Given the description of an element on the screen output the (x, y) to click on. 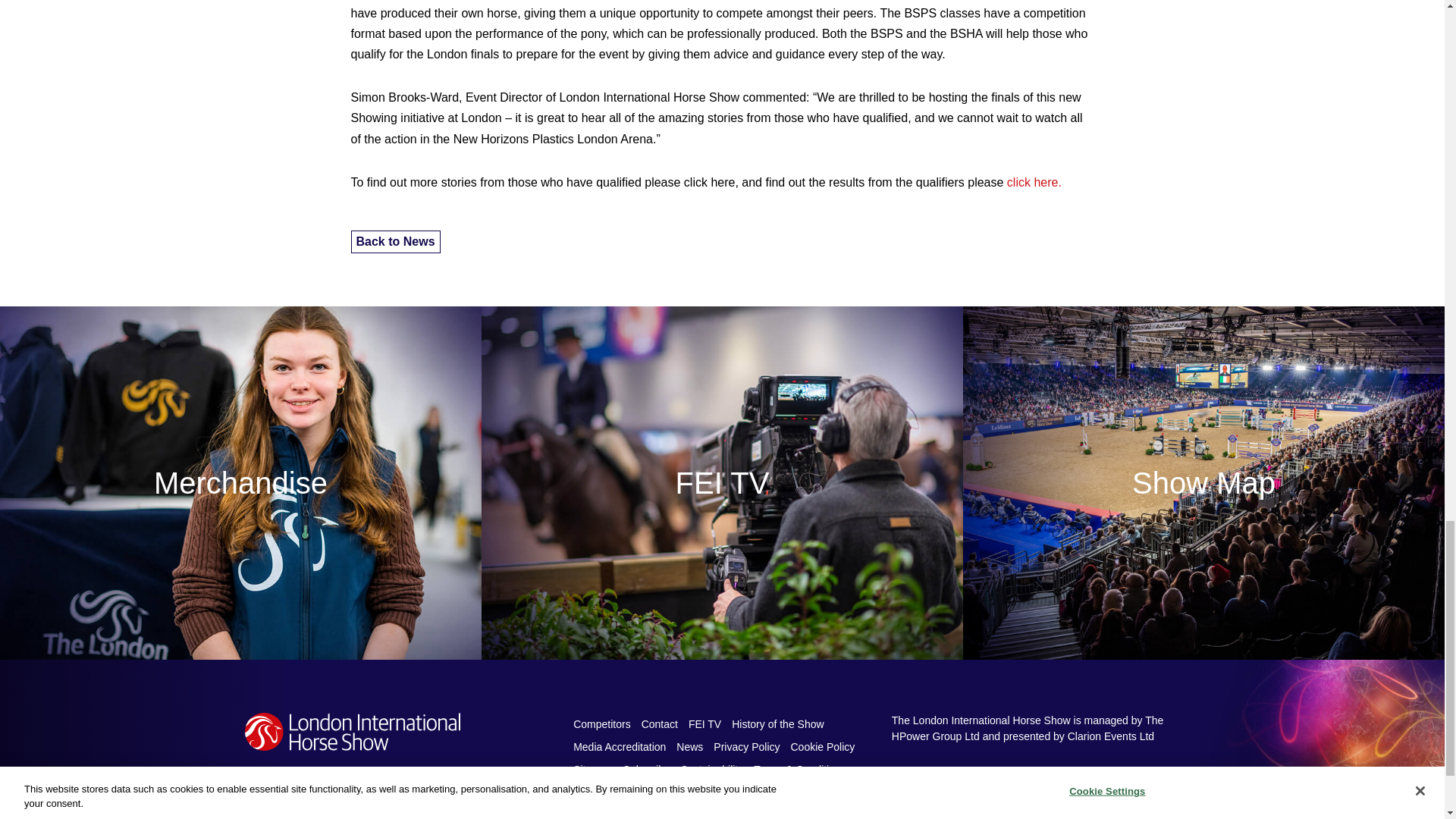
Back to News (394, 241)
Competitors (600, 723)
click here. (1034, 182)
History of the Show (777, 723)
FEI TV (704, 723)
Contact (659, 723)
Media Accreditation (619, 746)
